Given the description of an element on the screen output the (x, y) to click on. 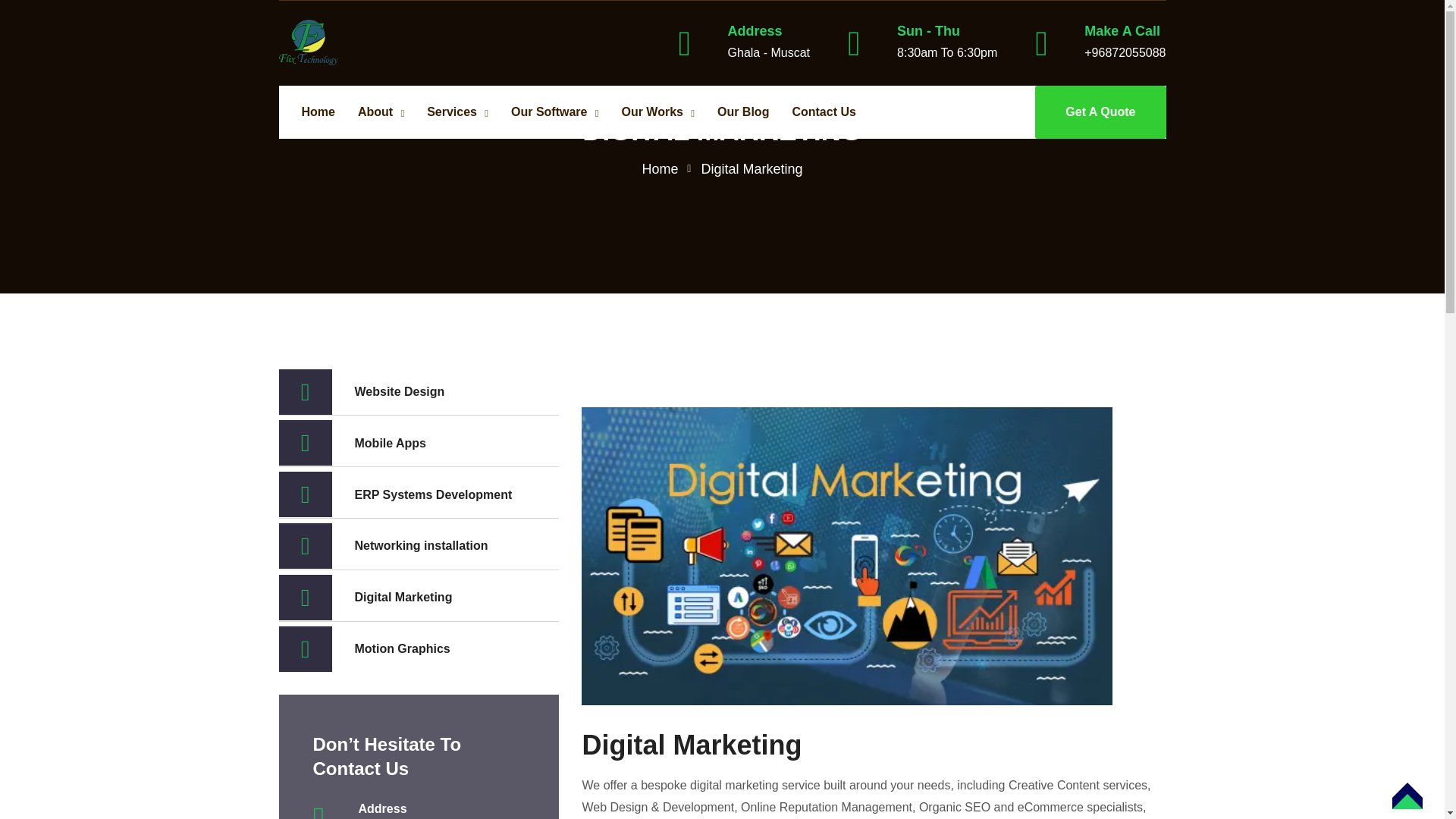
Home (317, 111)
Our Blog (742, 111)
Get A Quote (1100, 111)
Services (456, 111)
Website Design (419, 392)
Our Software (554, 111)
Networking installation (419, 546)
Home (317, 111)
Services (456, 111)
Our software (554, 111)
